Given the description of an element on the screen output the (x, y) to click on. 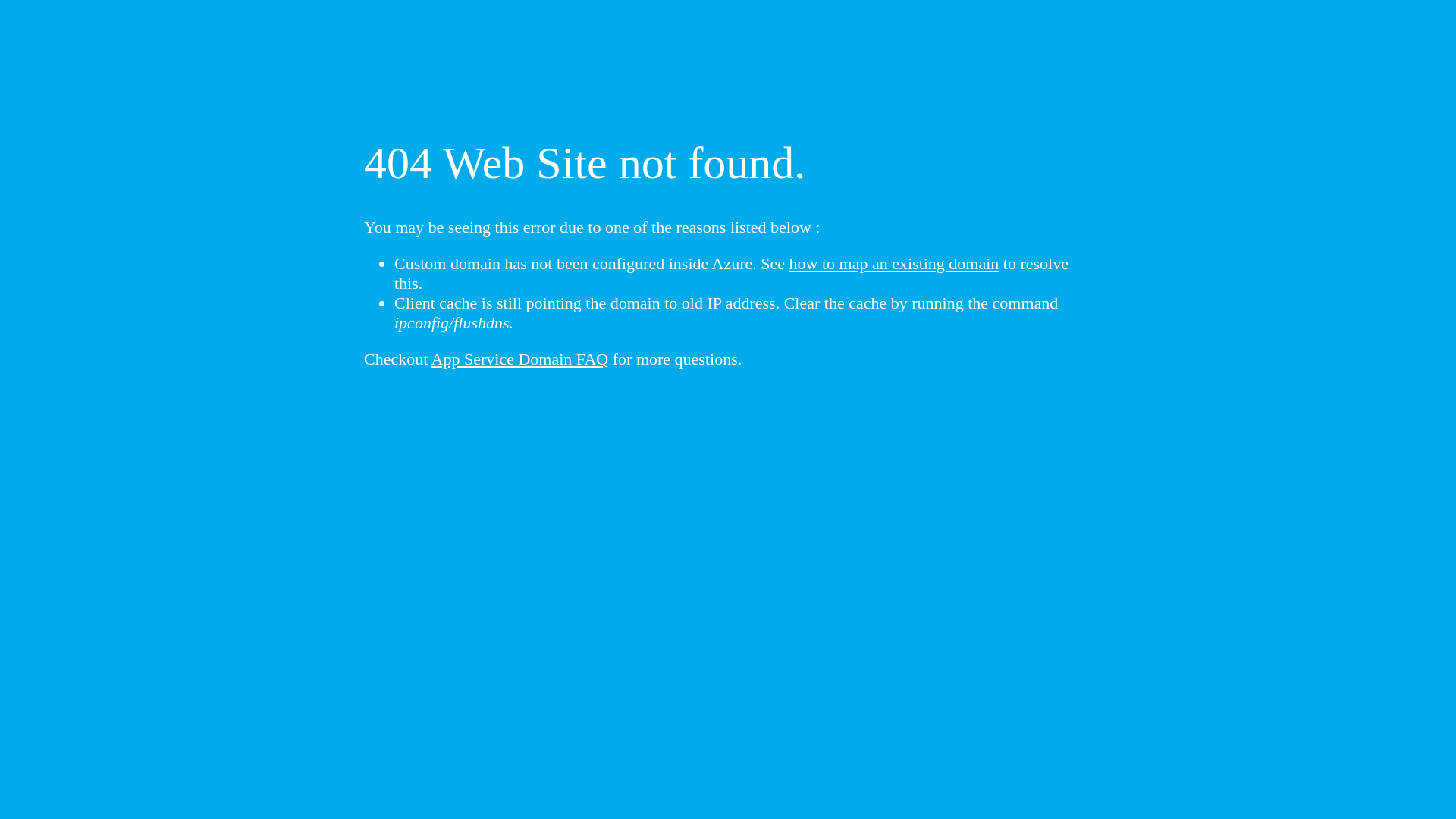
how to map an existing domain Element type: text (894, 263)
App Service Domain FAQ Element type: text (519, 358)
